Given the description of an element on the screen output the (x, y) to click on. 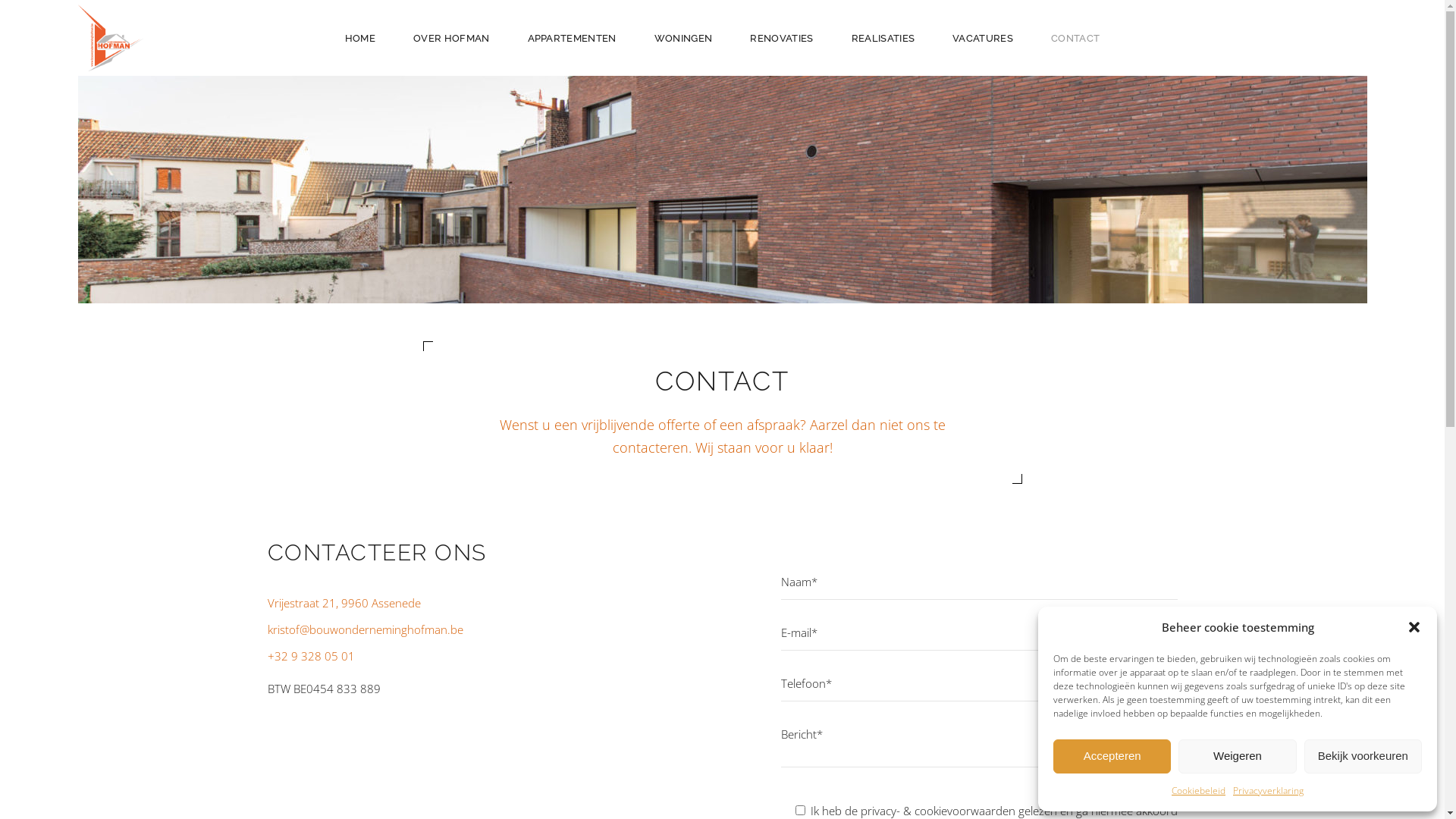
REALISATIES Element type: text (883, 37)
Bekijk voorkeuren Element type: text (1362, 756)
kristof@bouwonderneminghofman.be Element type: text (364, 629)
WONINGEN Element type: text (683, 37)
Privacyverklaring Element type: text (1268, 790)
HOME Element type: text (360, 37)
APPARTEMENTEN Element type: text (571, 37)
VACATURES Element type: text (982, 37)
Accepteren Element type: text (1111, 756)
Weigeren Element type: text (1236, 756)
Cookiebeleid Element type: text (1198, 790)
CONTACT Element type: text (1075, 37)
RENOVATIES Element type: text (781, 37)
OVER HOFMAN Element type: text (451, 37)
